Given the description of an element on the screen output the (x, y) to click on. 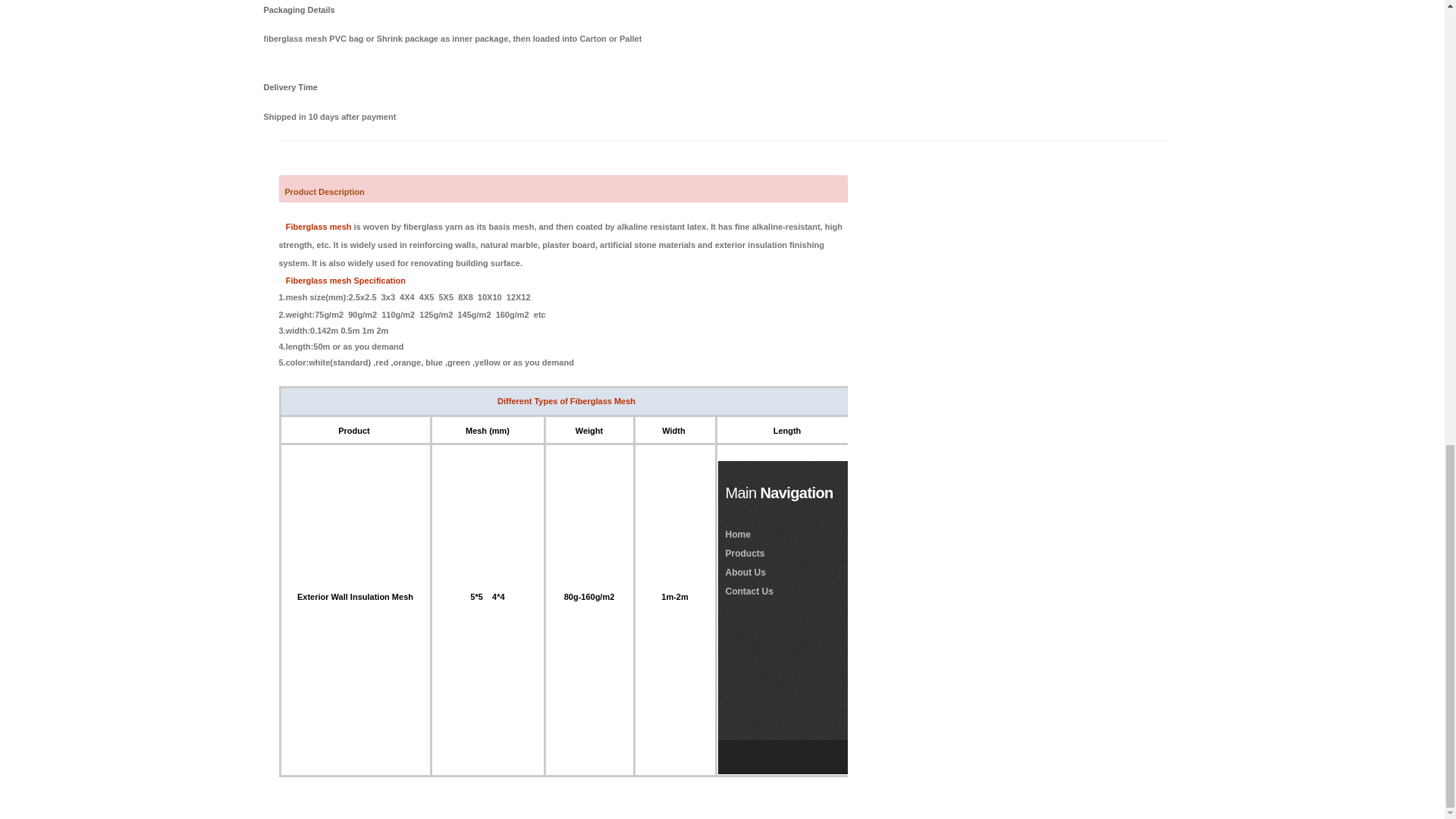
Contact Us (749, 591)
Send (1200, 684)
Home (737, 533)
Products (744, 552)
Shipped in 10 days after payment (721, 116)
Packaging Details (301, 10)
About Us (745, 571)
Delivery Time (301, 87)
